Given the description of an element on the screen output the (x, y) to click on. 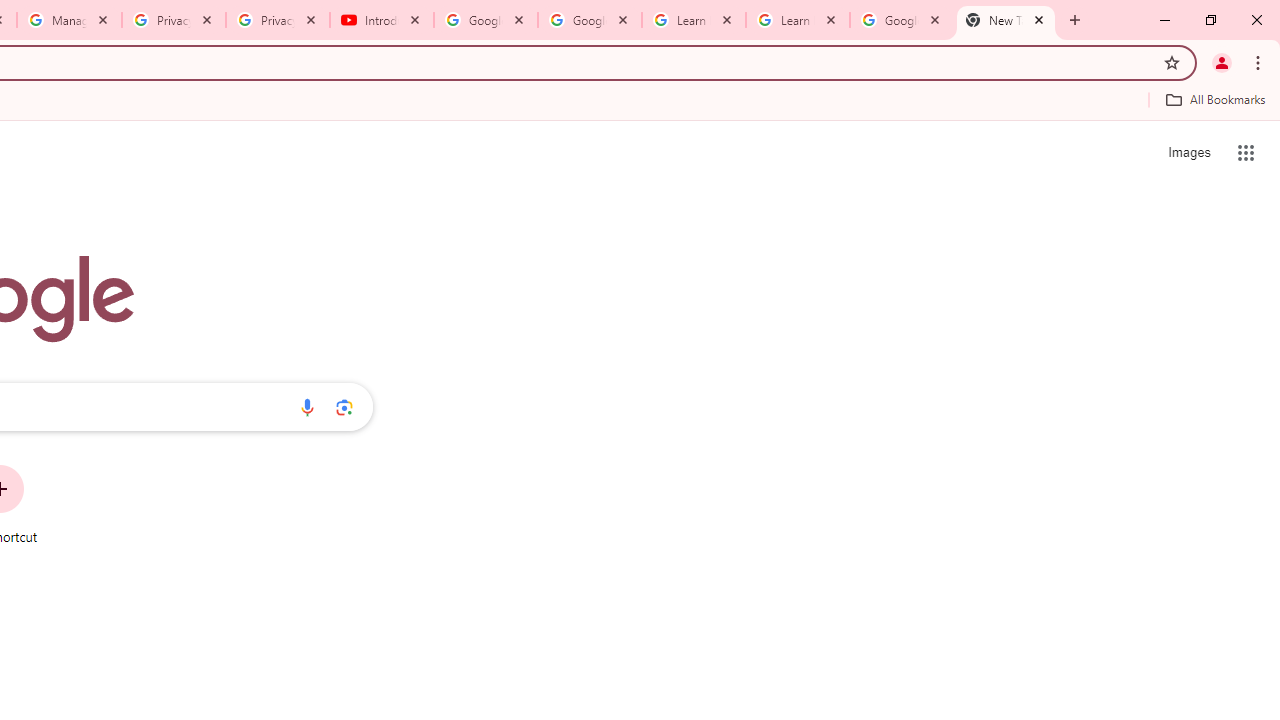
New Tab (1005, 20)
Google Account Help (589, 20)
Search by voice (307, 407)
Search for Images  (1188, 152)
